Given the description of an element on the screen output the (x, y) to click on. 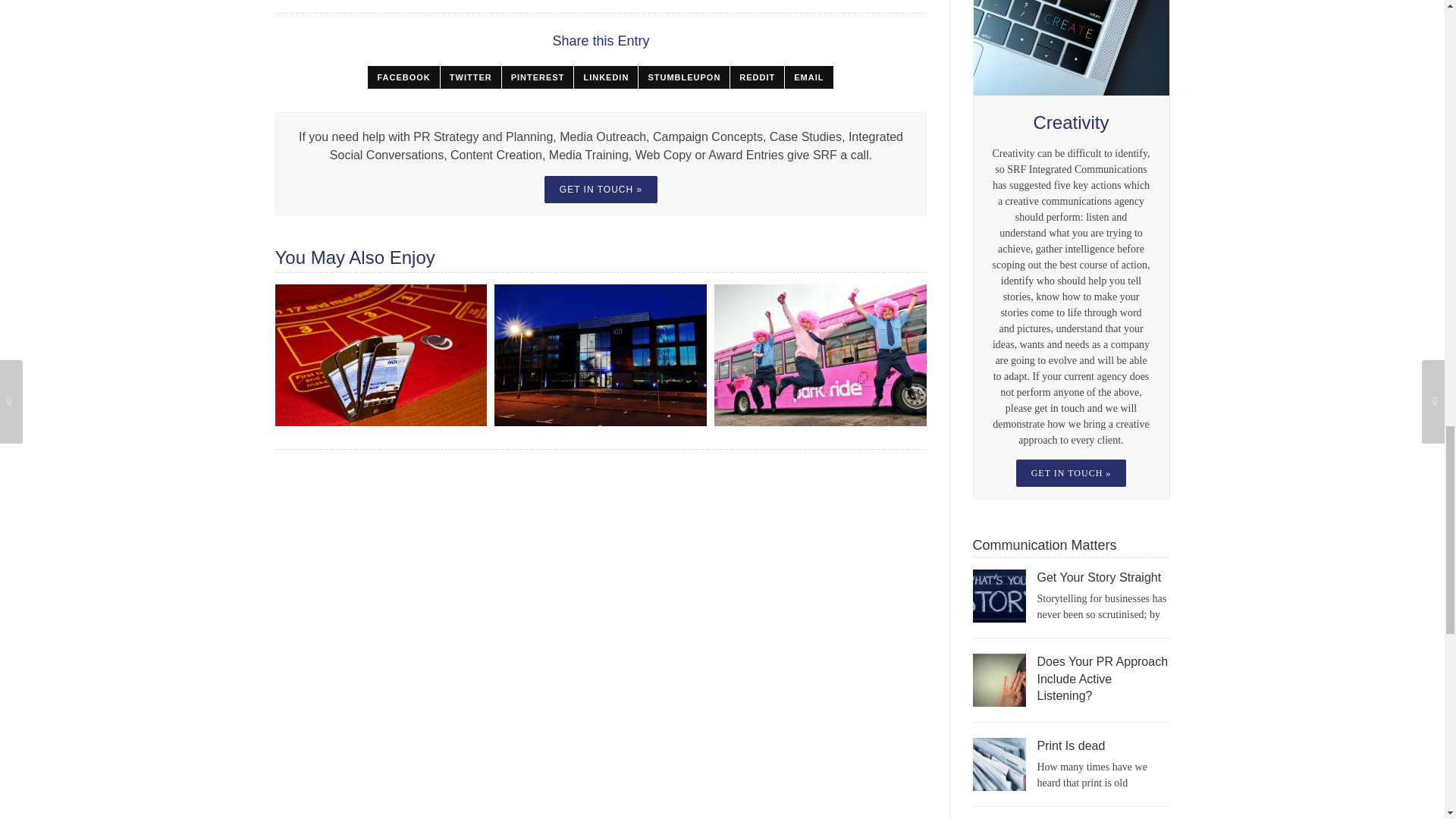
LINKEDIN (605, 77)
STUMBLEUPON (684, 77)
FACEBOOK (403, 77)
TWITTER (470, 77)
PINTEREST (537, 77)
